Given the description of an element on the screen output the (x, y) to click on. 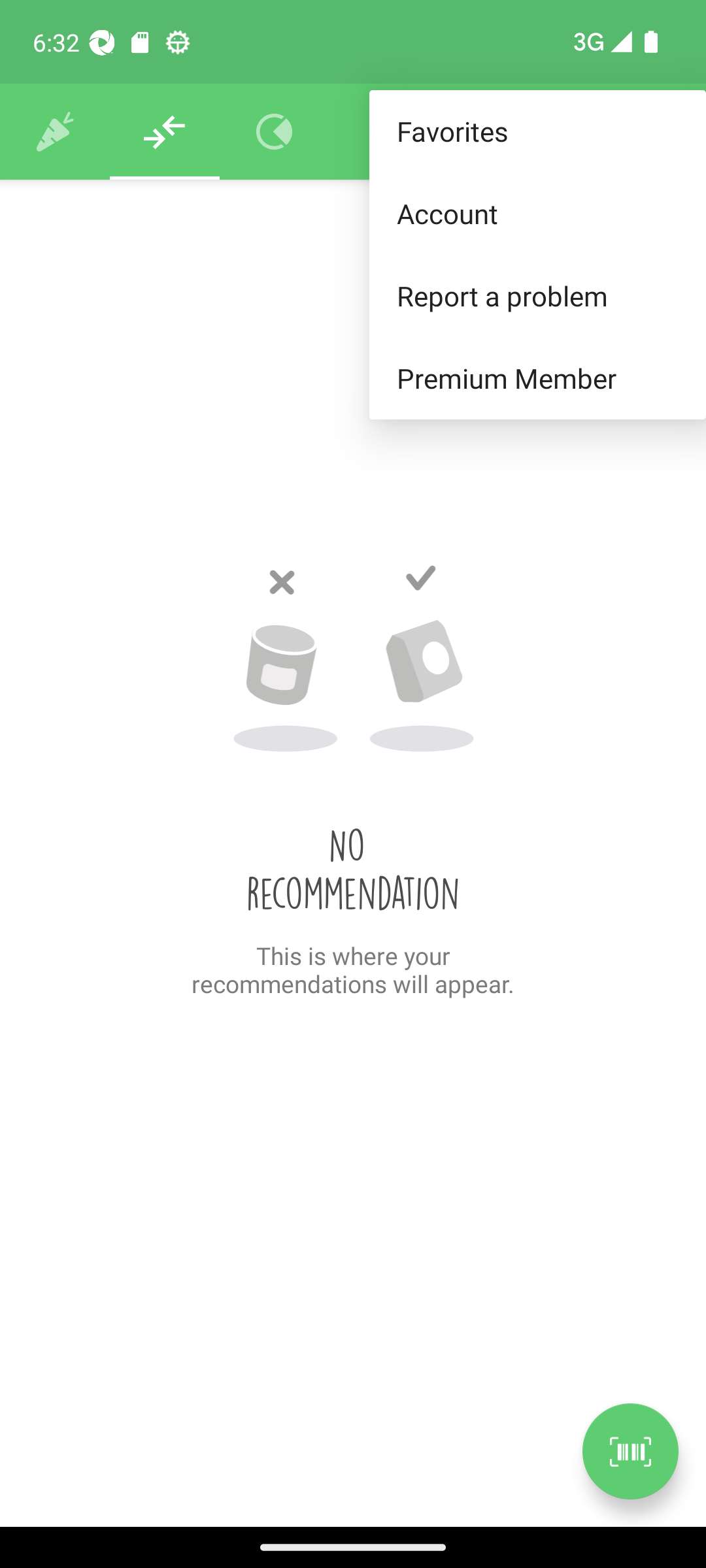
Favorites (537, 131)
Account (537, 213)
Report a problem (537, 295)
Premium Member (537, 378)
